Given the description of an element on the screen output the (x, y) to click on. 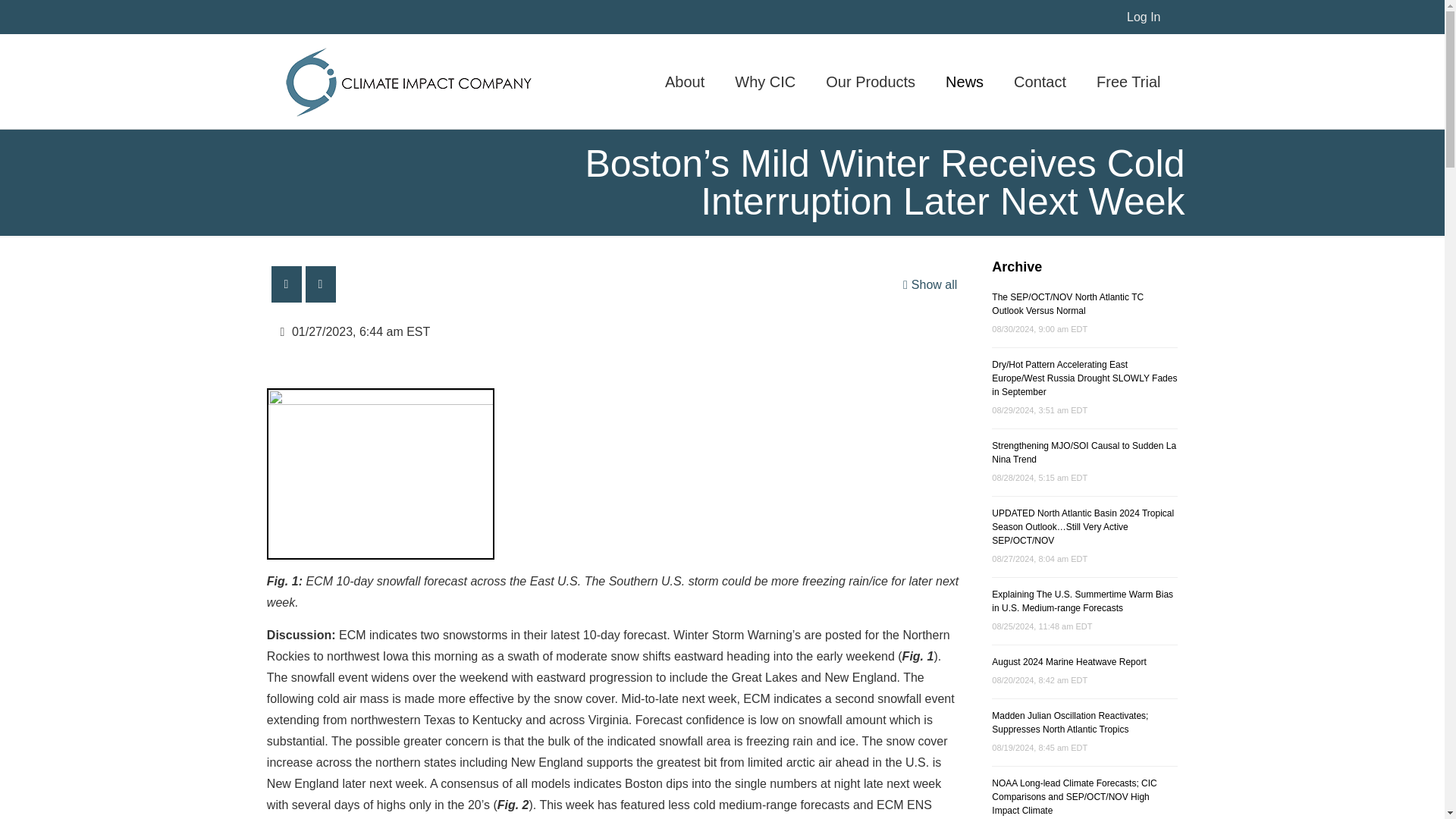
Why CIC (764, 81)
Our Products (870, 81)
August 2024 Marine Heatwave Report (1068, 661)
Climate Impact Company (407, 81)
Show all (927, 284)
Free Trial (1127, 81)
Log In (1143, 16)
